Given the description of an element on the screen output the (x, y) to click on. 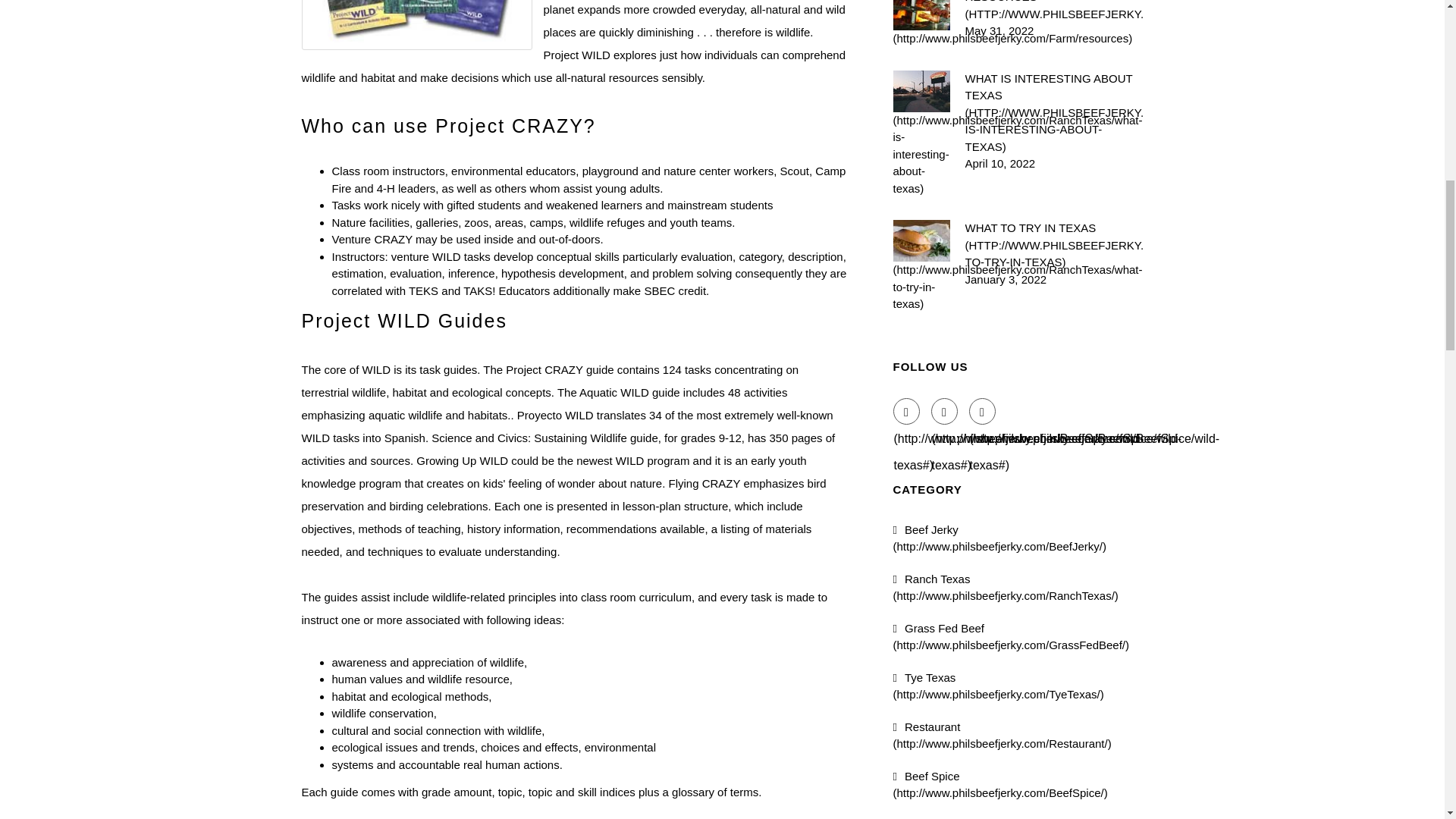
Facebook (906, 411)
View all posts filed under Restaurant (1002, 735)
View all posts filed under Tye Texas (998, 685)
View all posts filed under Ranch Texas (1005, 586)
View all posts filed under Beef Spice (1000, 784)
Google Plus (982, 411)
PW book covers (416, 24)
Twitter (944, 411)
View all posts filed under Grass Fed Beef (1011, 636)
View all posts filed under Beef Jerky (999, 538)
